Given the description of an element on the screen output the (x, y) to click on. 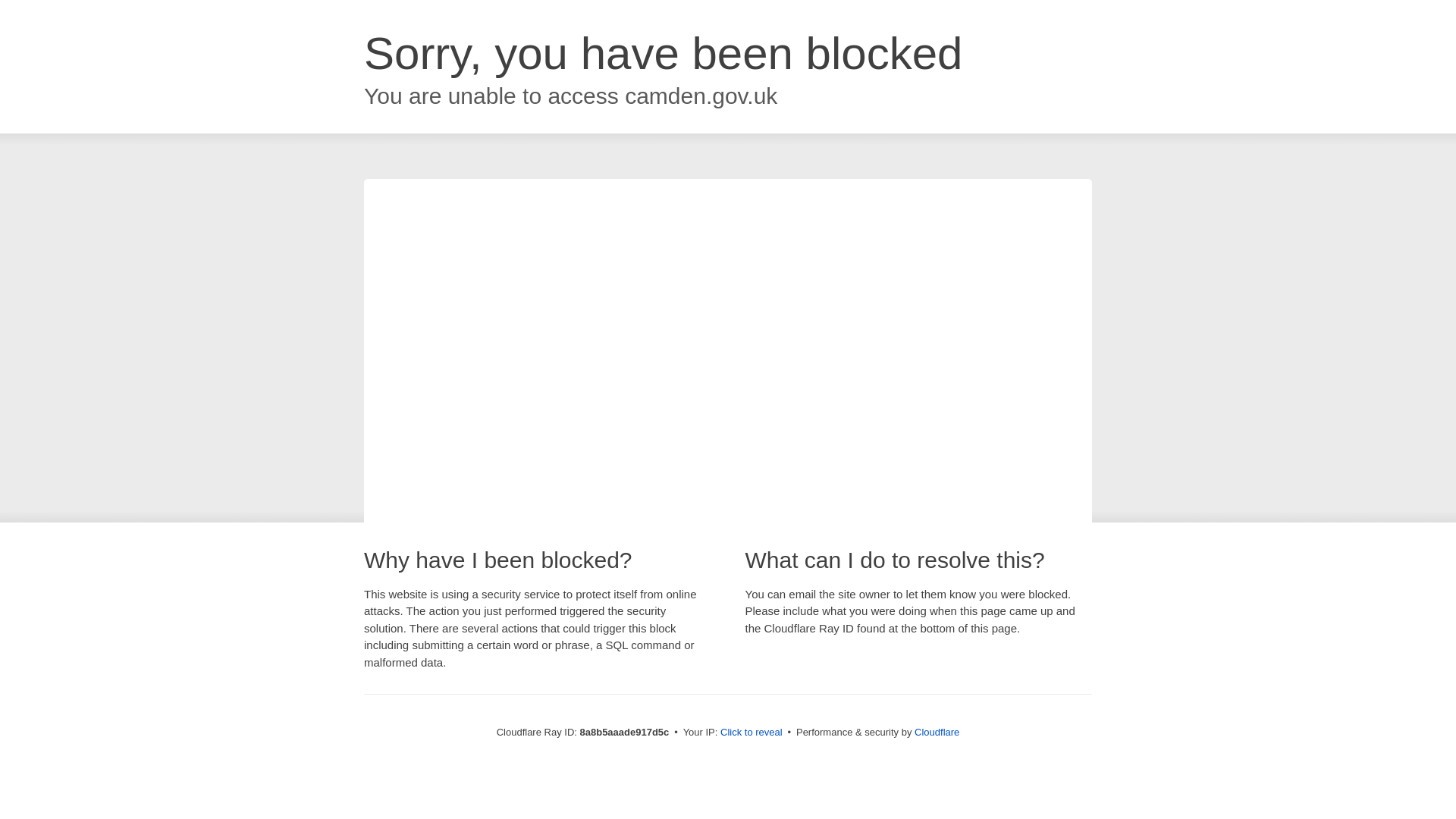
Click to reveal (751, 732)
Cloudflare (936, 731)
